Given the description of an element on the screen output the (x, y) to click on. 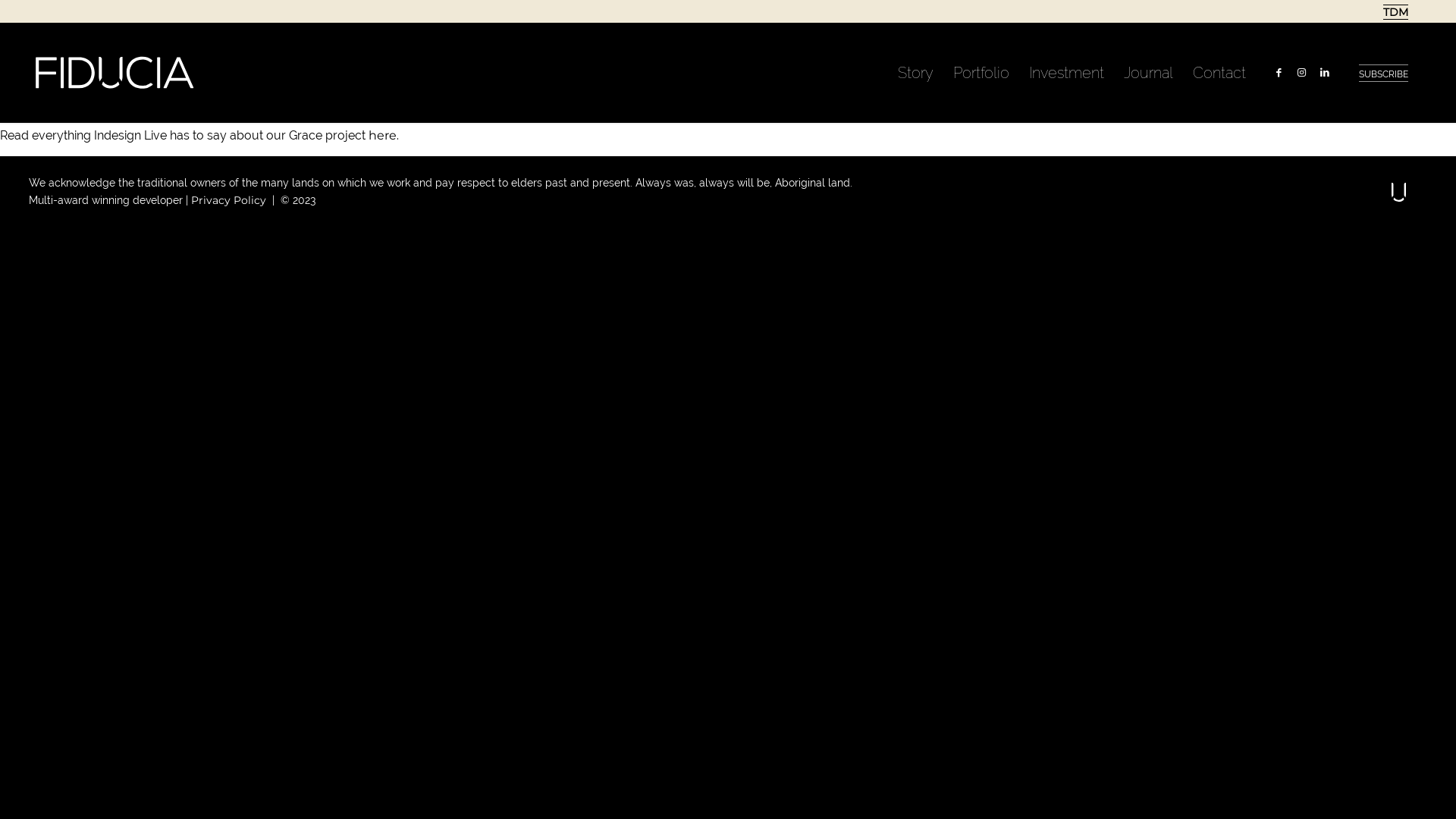
Contact Element type: text (1219, 72)
Fiducia_Logo-TCC_RGB-White-01-svg (2) Element type: hover (114, 72)
Portfolio Element type: text (981, 72)
Privacy Policy Element type: text (228, 200)
Journal Element type: text (1148, 72)
SUBSCRIBE Element type: text (1383, 74)
TDM Element type: text (1395, 11)
Investment Element type: text (1066, 72)
here Element type: text (382, 135)
Story Element type: text (915, 72)
